Given the description of an element on the screen output the (x, y) to click on. 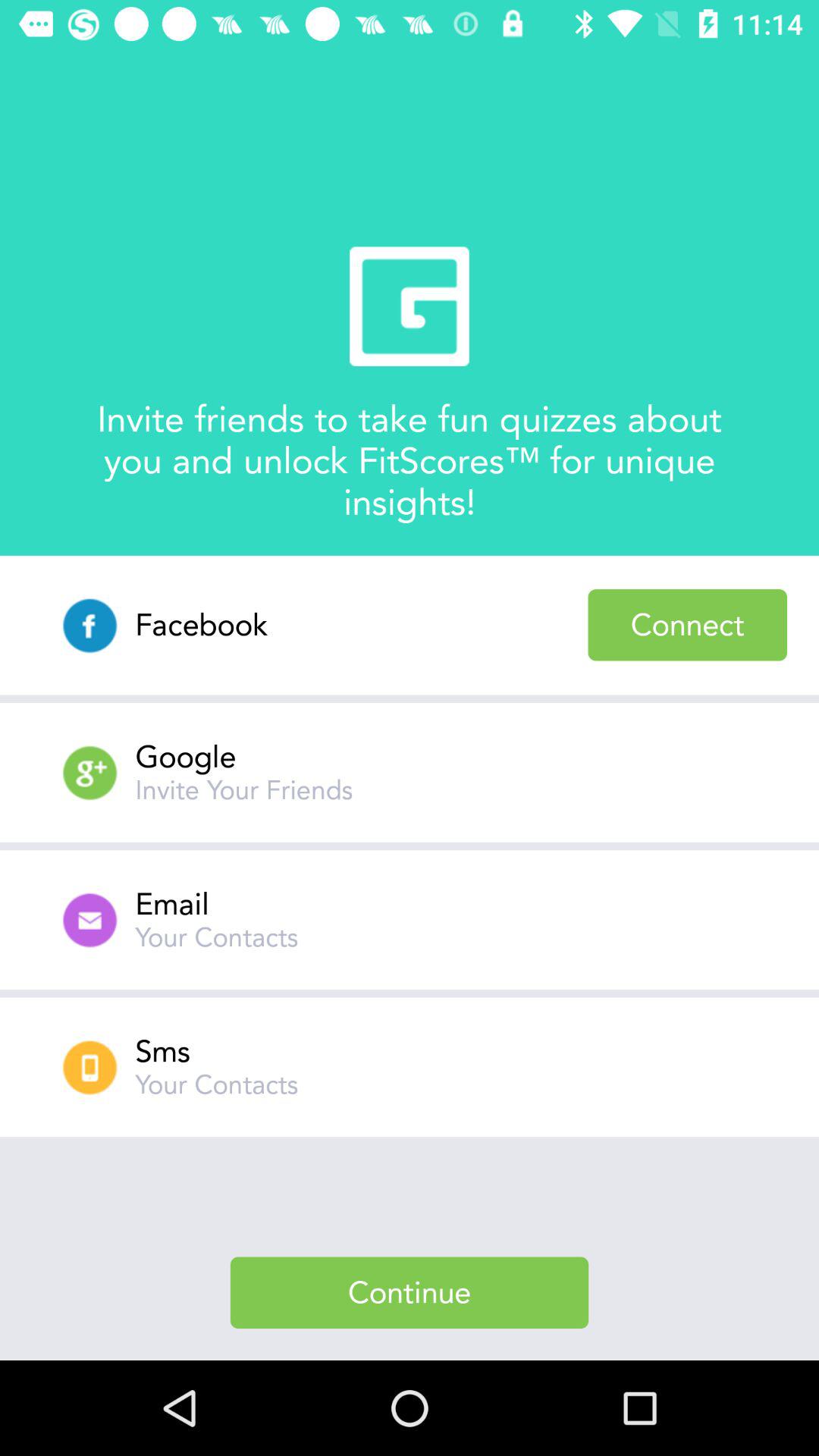
select the connect item (687, 624)
